Given the description of an element on the screen output the (x, y) to click on. 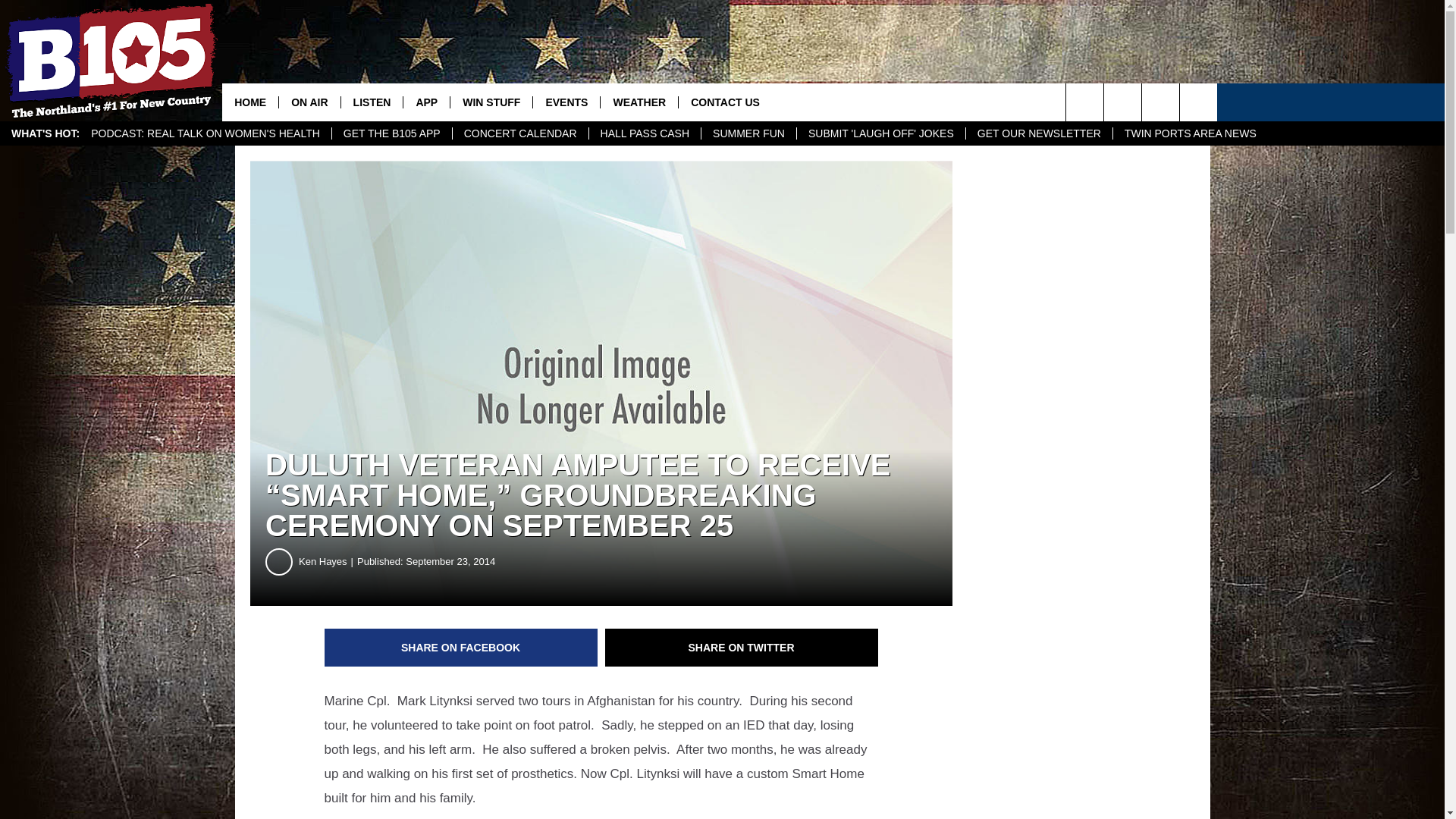
GET OUR NEWSLETTER (1038, 133)
PODCAST: REAL TALK ON WOMEN'S HEALTH (205, 133)
LISTEN (371, 102)
SUBMIT 'LAUGH OFF' JOKES (880, 133)
Share on Facebook (460, 647)
SUMMER FUN (748, 133)
ON AIR (308, 102)
CONCERT CALENDAR (519, 133)
EVENTS (565, 102)
GET THE B105 APP (391, 133)
Share on Twitter (741, 647)
HALL PASS CASH (644, 133)
APP (426, 102)
HOME (250, 102)
TWIN PORTS AREA NEWS (1190, 133)
